Given the description of an element on the screen output the (x, y) to click on. 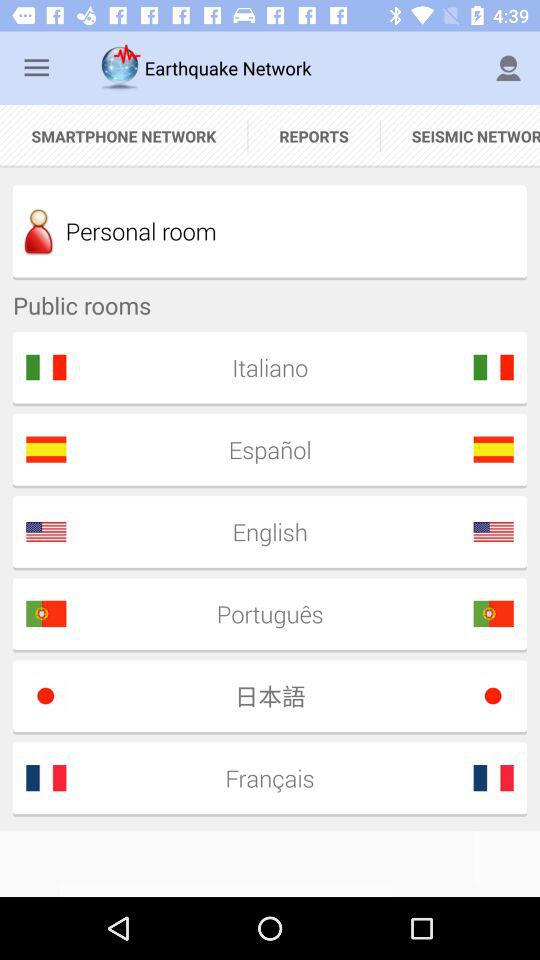
press the item to the left of reports icon (123, 136)
